Given the description of an element on the screen output the (x, y) to click on. 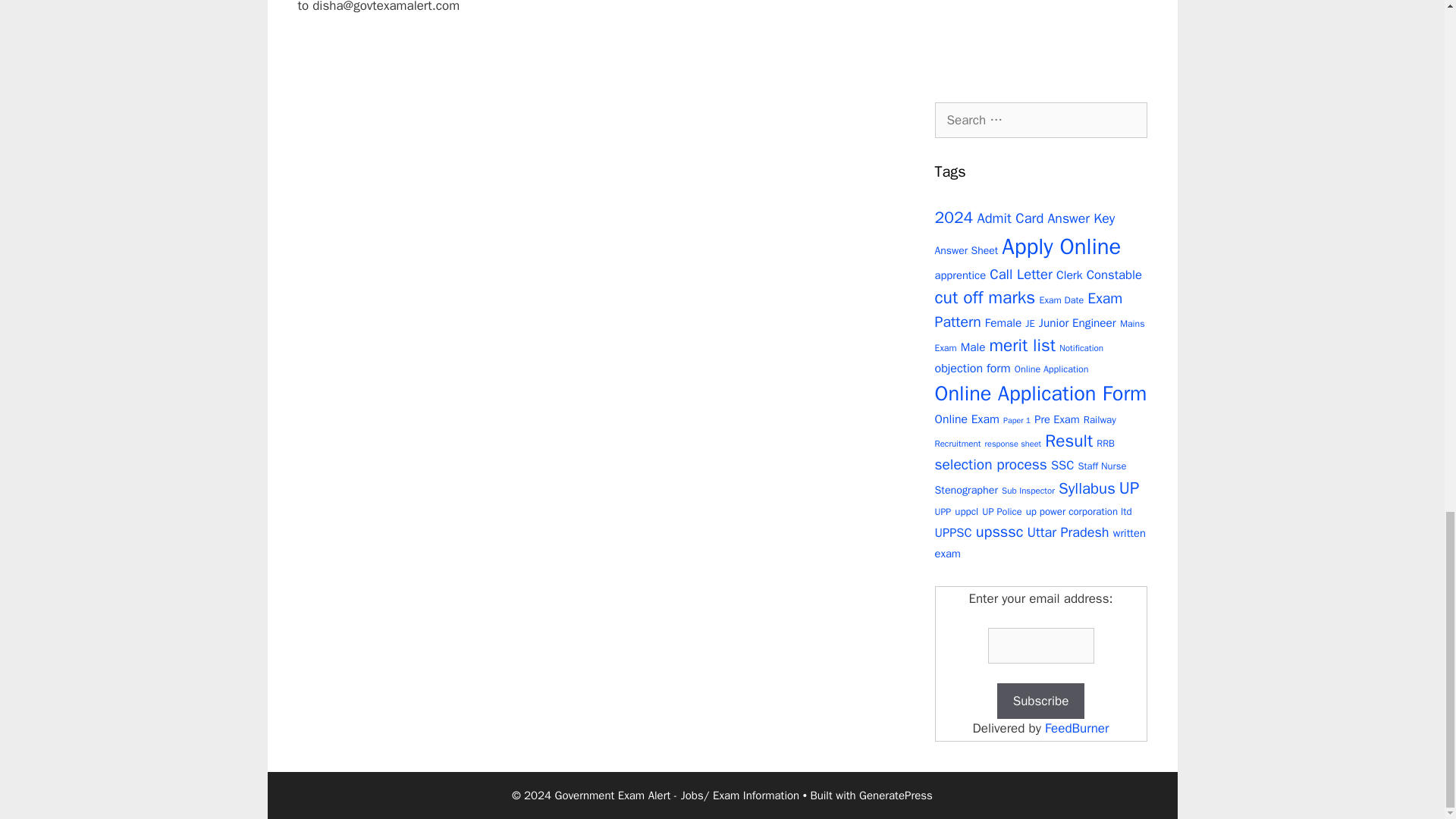
Subscribe (1040, 701)
Scroll back to top (1406, 151)
Search for: (1040, 119)
